Given the description of an element on the screen output the (x, y) to click on. 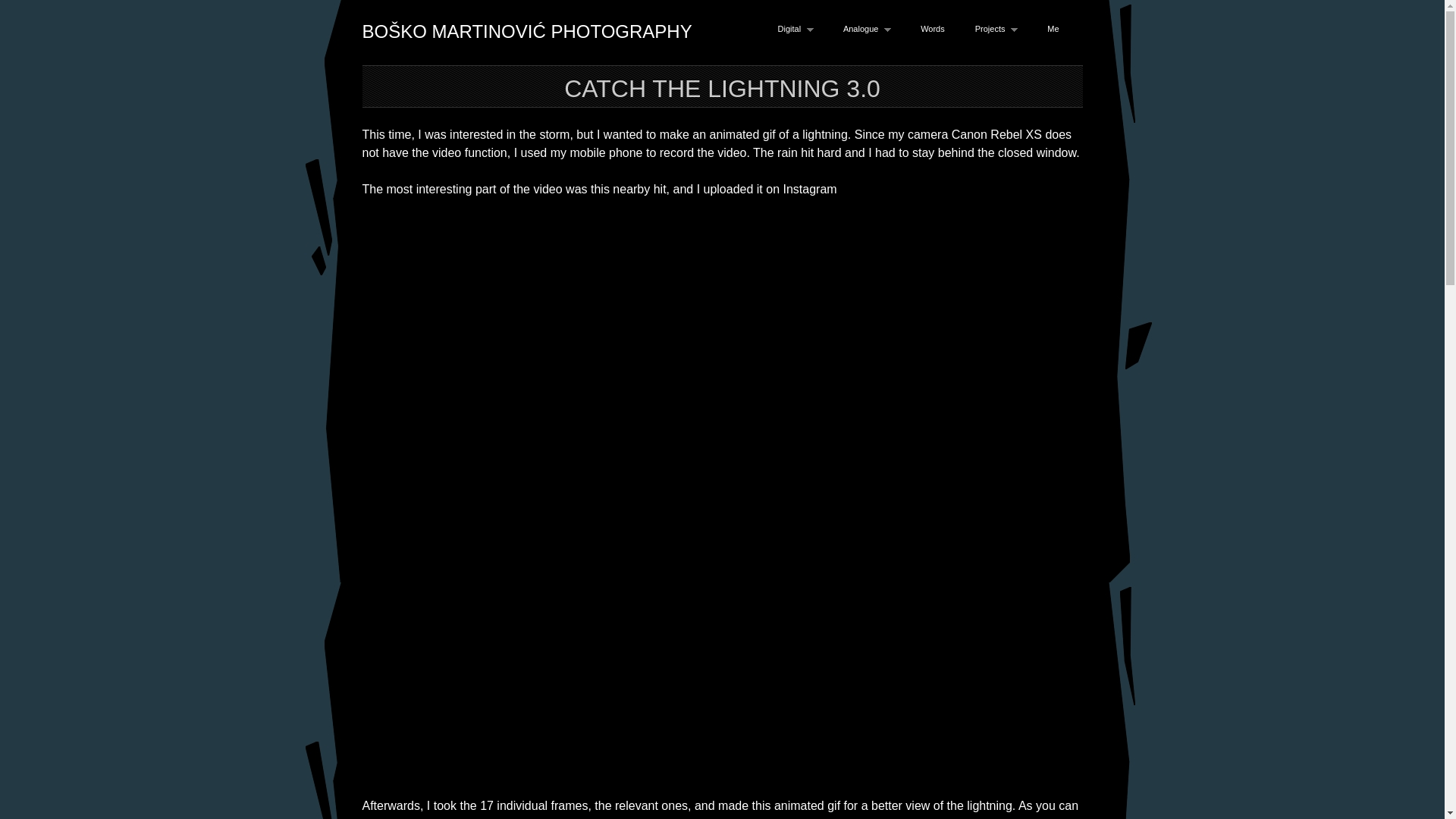
Me (1053, 29)
Words (933, 29)
